Given the description of an element on the screen output the (x, y) to click on. 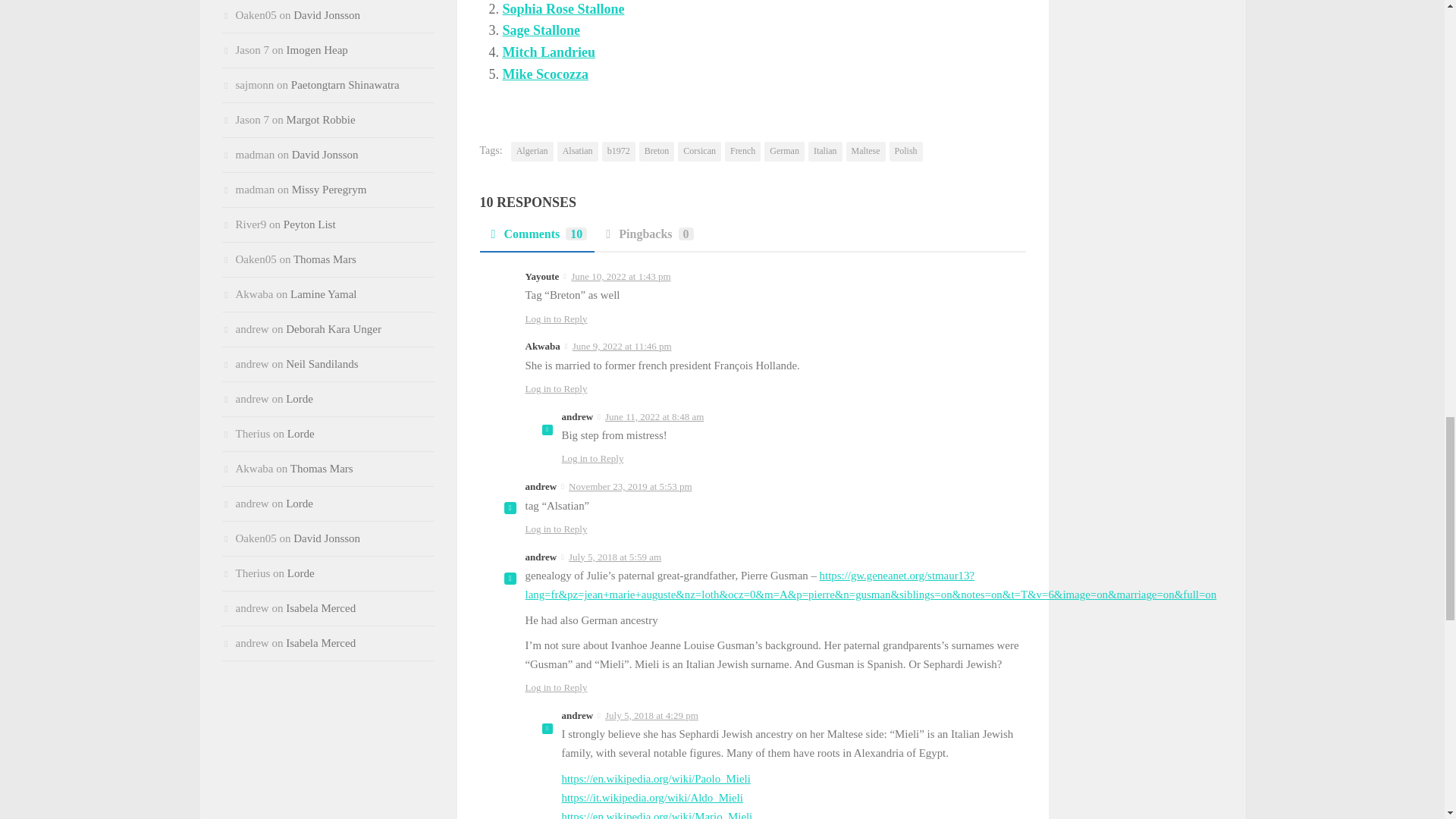
Mitch Landrieu (548, 52)
Sage Stallone (540, 29)
Sage Stallone (540, 29)
Alsatian (577, 151)
Sophia Rose Stallone (563, 8)
Mike Scocozza (545, 73)
Mitch Landrieu (548, 52)
Algerian (532, 151)
Mike Scocozza (545, 73)
Sophia Rose Stallone (563, 8)
